Given the description of an element on the screen output the (x, y) to click on. 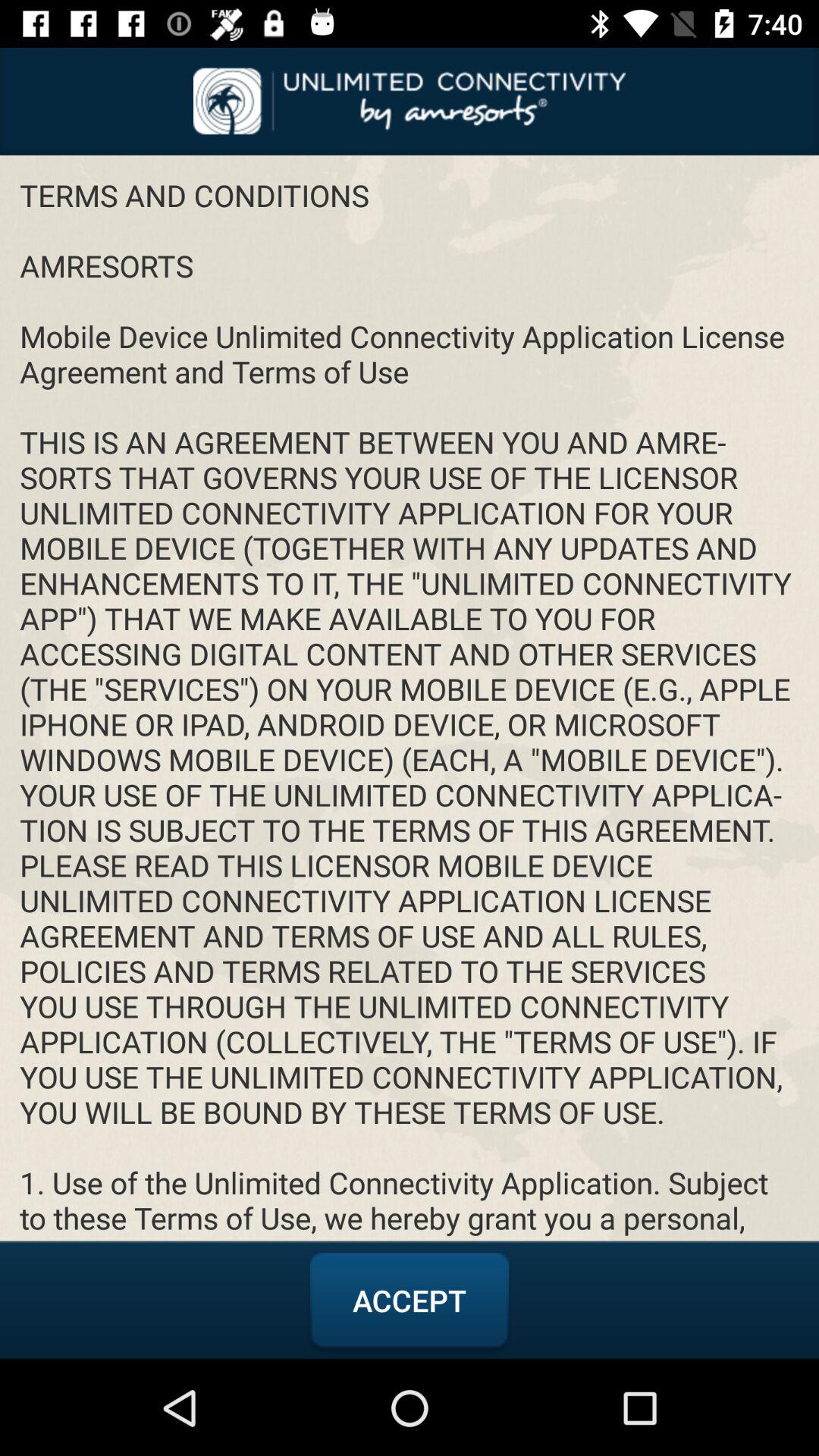
swipe to accept icon (409, 1300)
